Given the description of an element on the screen output the (x, y) to click on. 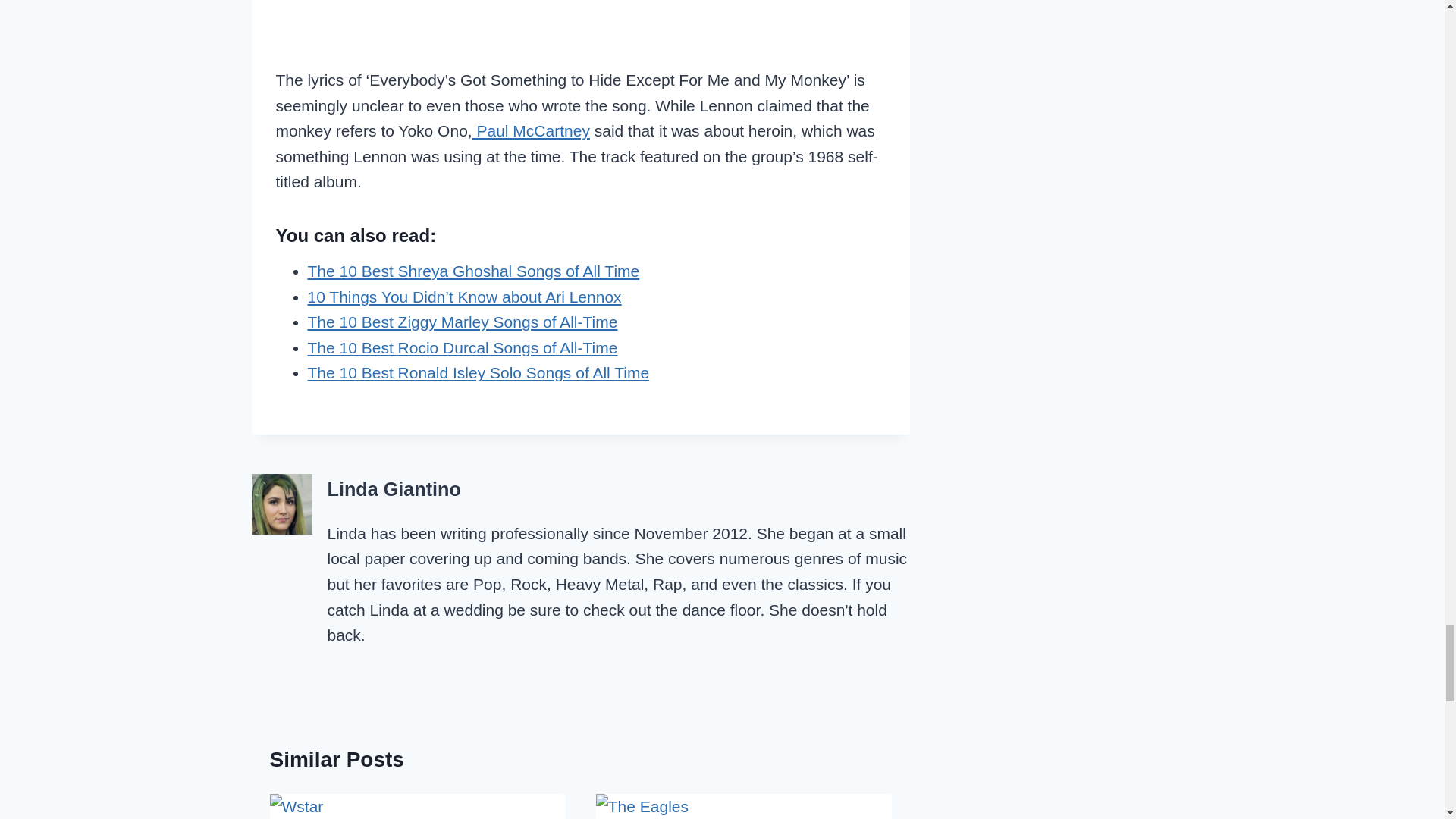
The 10 Best Shreya Ghoshal Songs of All Time (473, 271)
Linda Giantino (394, 488)
Paul McCartney (530, 130)
Posts by Linda Giantino (394, 488)
The 10 Best Ronald Isley Solo Songs of All Time (478, 372)
The 10 Best Ziggy Marley Songs of All-Time (462, 321)
The 10 Best Rocio Durcal Songs of All-Time (462, 347)
